Given the description of an element on the screen output the (x, y) to click on. 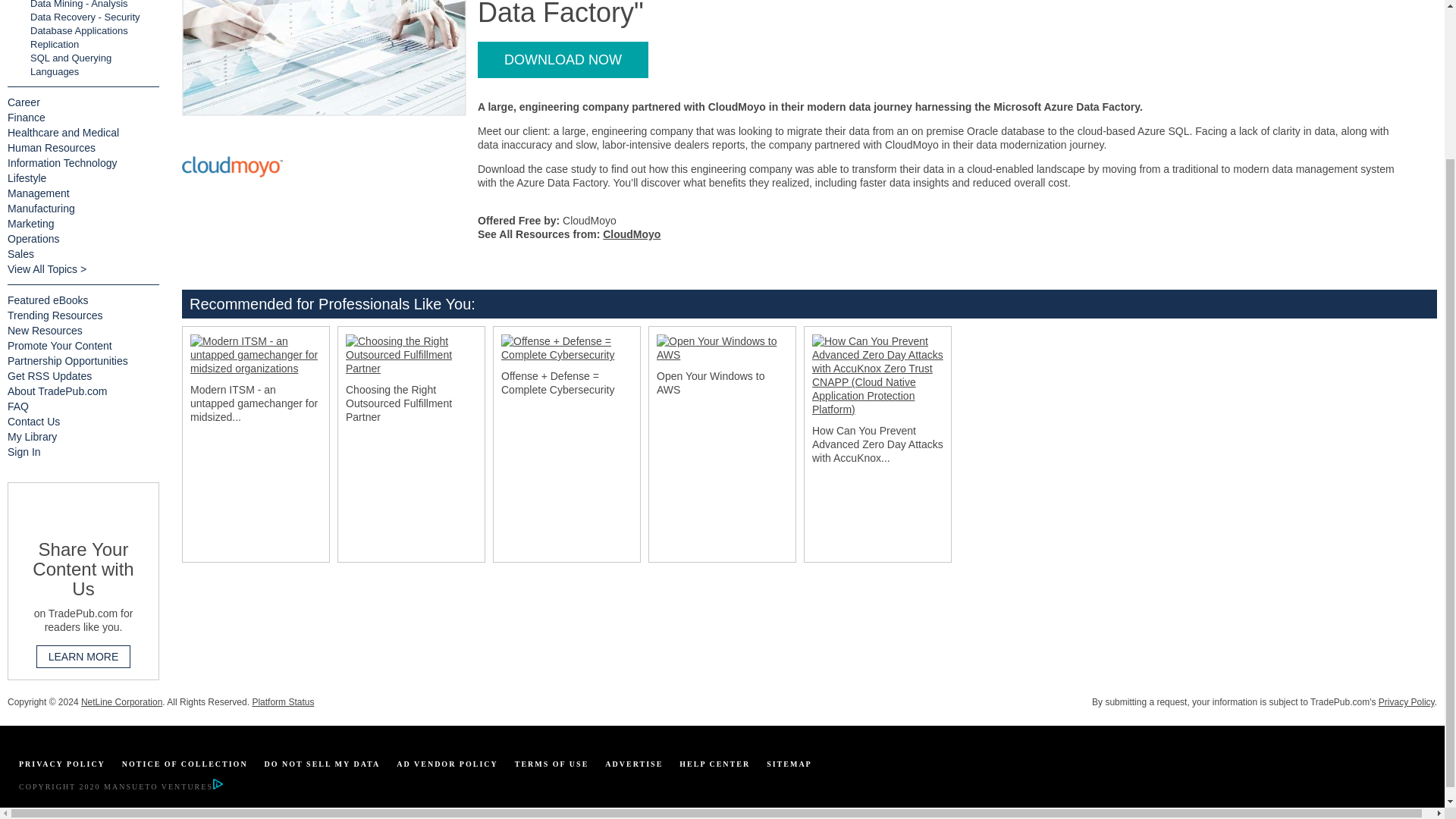
Get more information about Privacy policy on Inc.com (61, 764)
Get more information about do not sell my data on Inc.com (322, 764)
Get more information about Notice of collection on Inc.com (184, 764)
Get more information about terms of use on Inc.com (552, 764)
Get more information about Ad vendor policy on Inc.com (446, 764)
Read more about your Ad Choices (217, 786)
Get more information about Advertise on Inc.com (633, 764)
Get more information about sitemap on Inc.com (789, 764)
Get more information about help Center on Inc.com (714, 764)
